Given the description of an element on the screen output the (x, y) to click on. 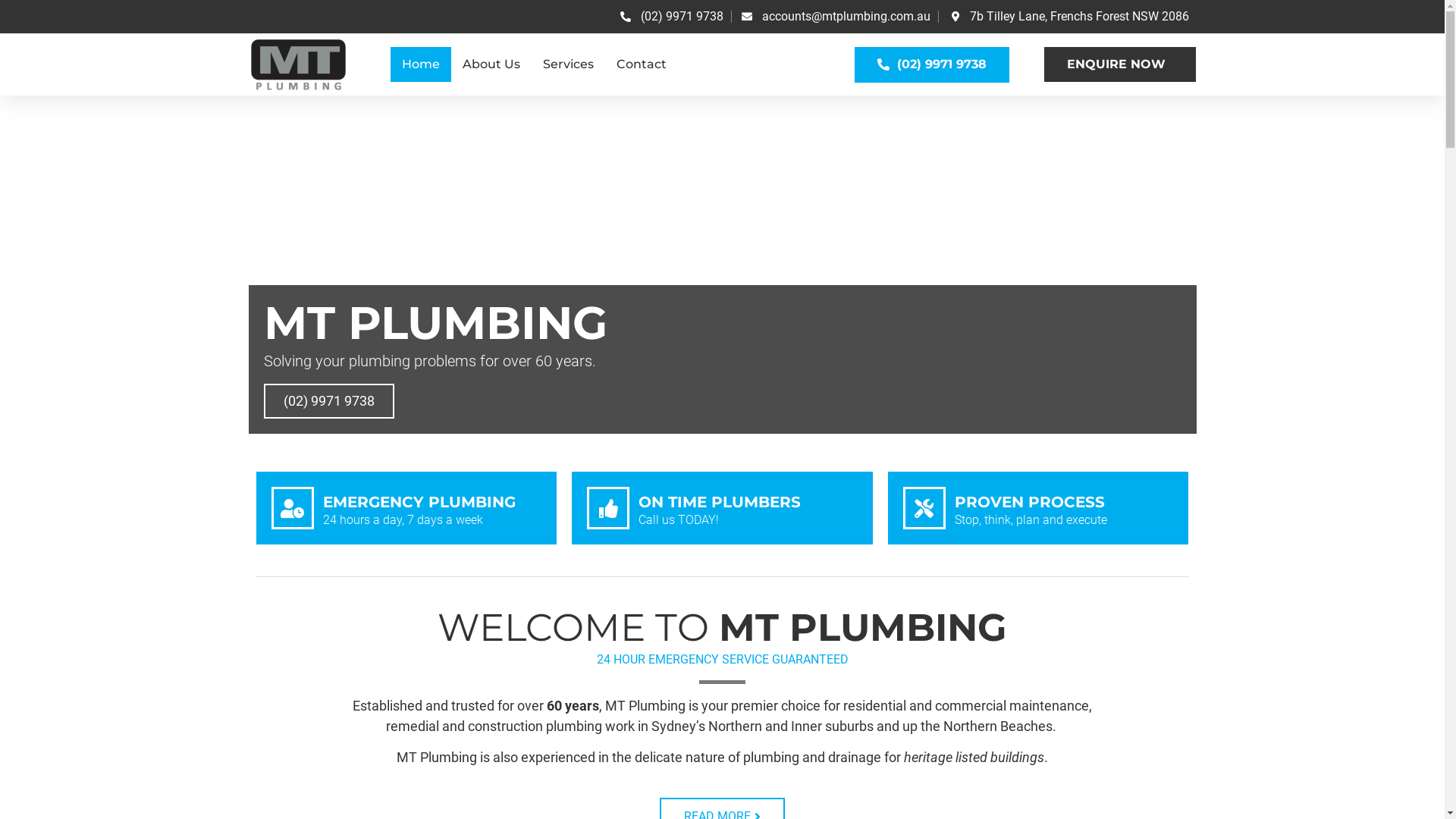
Home Element type: text (420, 64)
ENQUIRE NOW Element type: text (1119, 64)
(02) 9971 9738 Element type: text (670, 16)
accounts@mtplumbing.com.au Element type: text (834, 16)
(02) 9971 9738 Element type: text (931, 64)
About Us Element type: text (491, 64)
(02) 9971 9738 Element type: text (328, 400)
Contact Element type: text (641, 64)
Services Element type: text (568, 64)
